Given the description of an element on the screen output the (x, y) to click on. 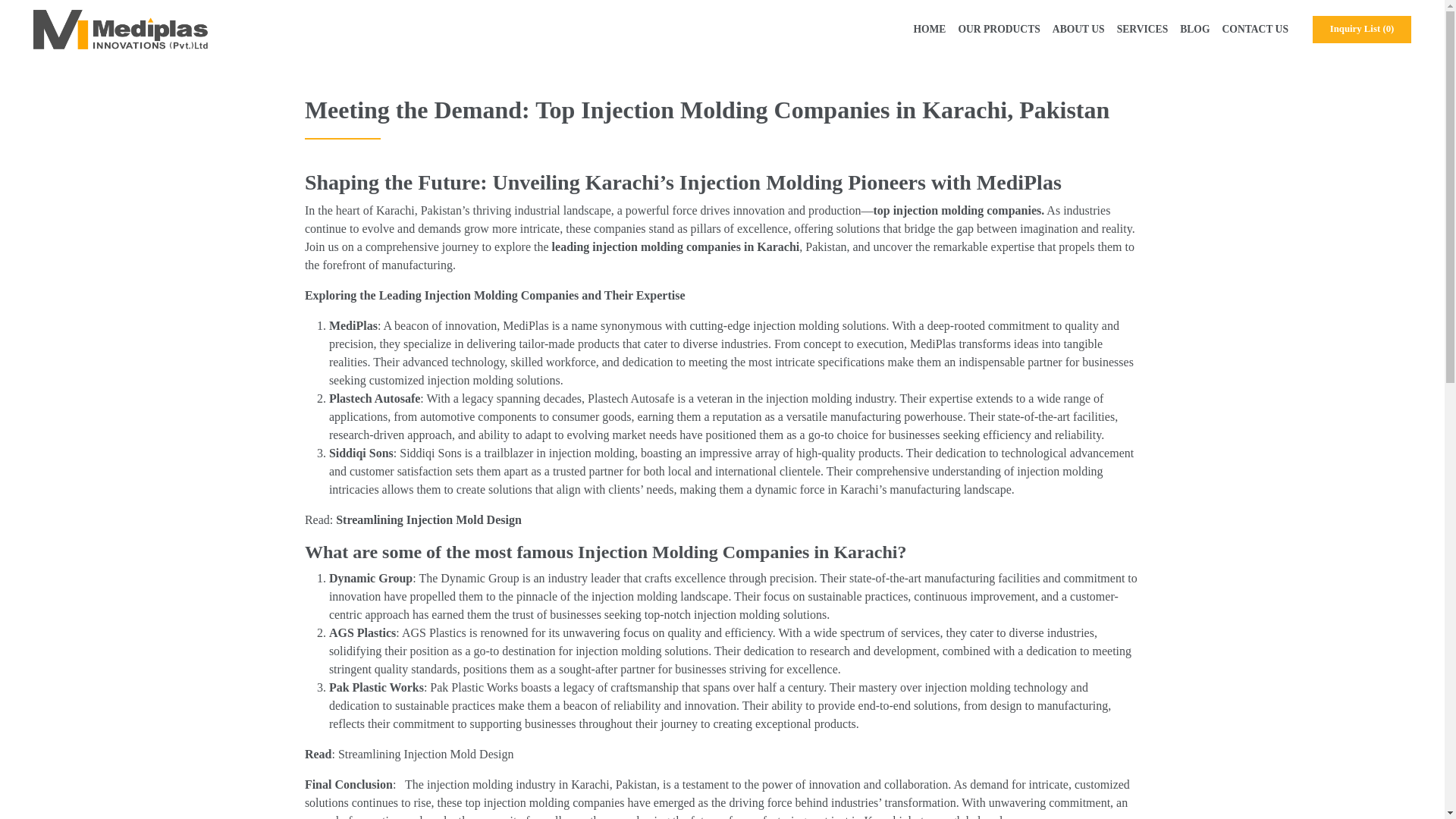
OUR PRODUCTS (998, 29)
top injection molding companies (956, 210)
ABOUT US (1078, 29)
BLOG (1194, 29)
CONTACT US (1255, 29)
SERVICES (1142, 29)
leading injection molding companies in Karachi (675, 246)
HOME (929, 29)
Streamlining Injection Mold Design (425, 753)
Streamlining Injection Mold Design (428, 519)
